Given the description of an element on the screen output the (x, y) to click on. 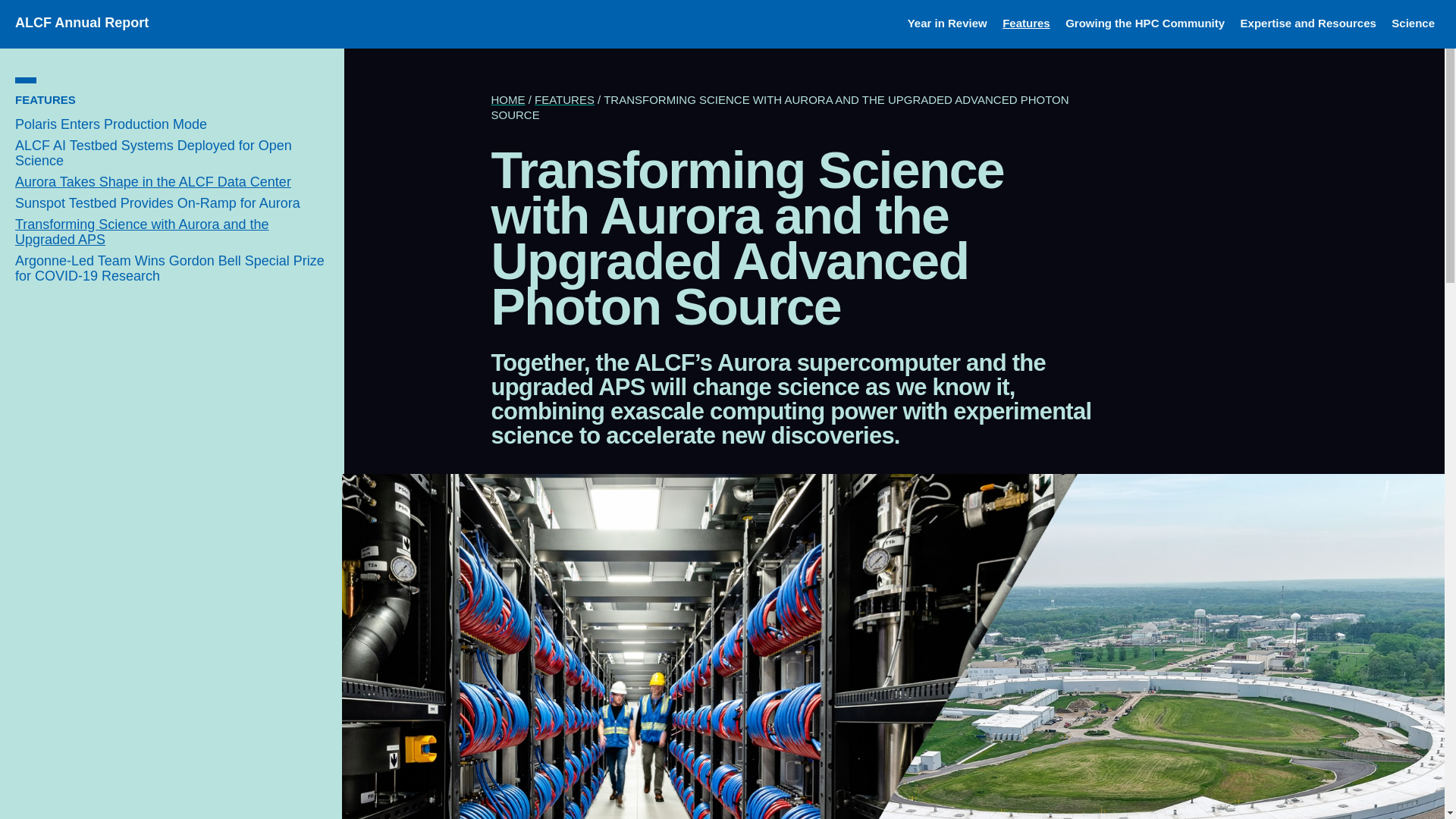
Aurora Takes Shape in the ALCF Data Center (152, 181)
Features (1026, 22)
Sunspot Testbed Provides On-Ramp for Aurora (156, 202)
ALCF AI Testbed Systems Deployed for Open Science (153, 153)
ALCF Annual Report (81, 22)
Transforming Science with Aurora and the Upgraded APS (141, 232)
Year in Review (947, 22)
Growing the HPC Community (1144, 22)
FEATURES (44, 99)
Expertise and Resources (1307, 22)
Polaris Enters Production Mode (110, 124)
Science (1412, 22)
